Given the description of an element on the screen output the (x, y) to click on. 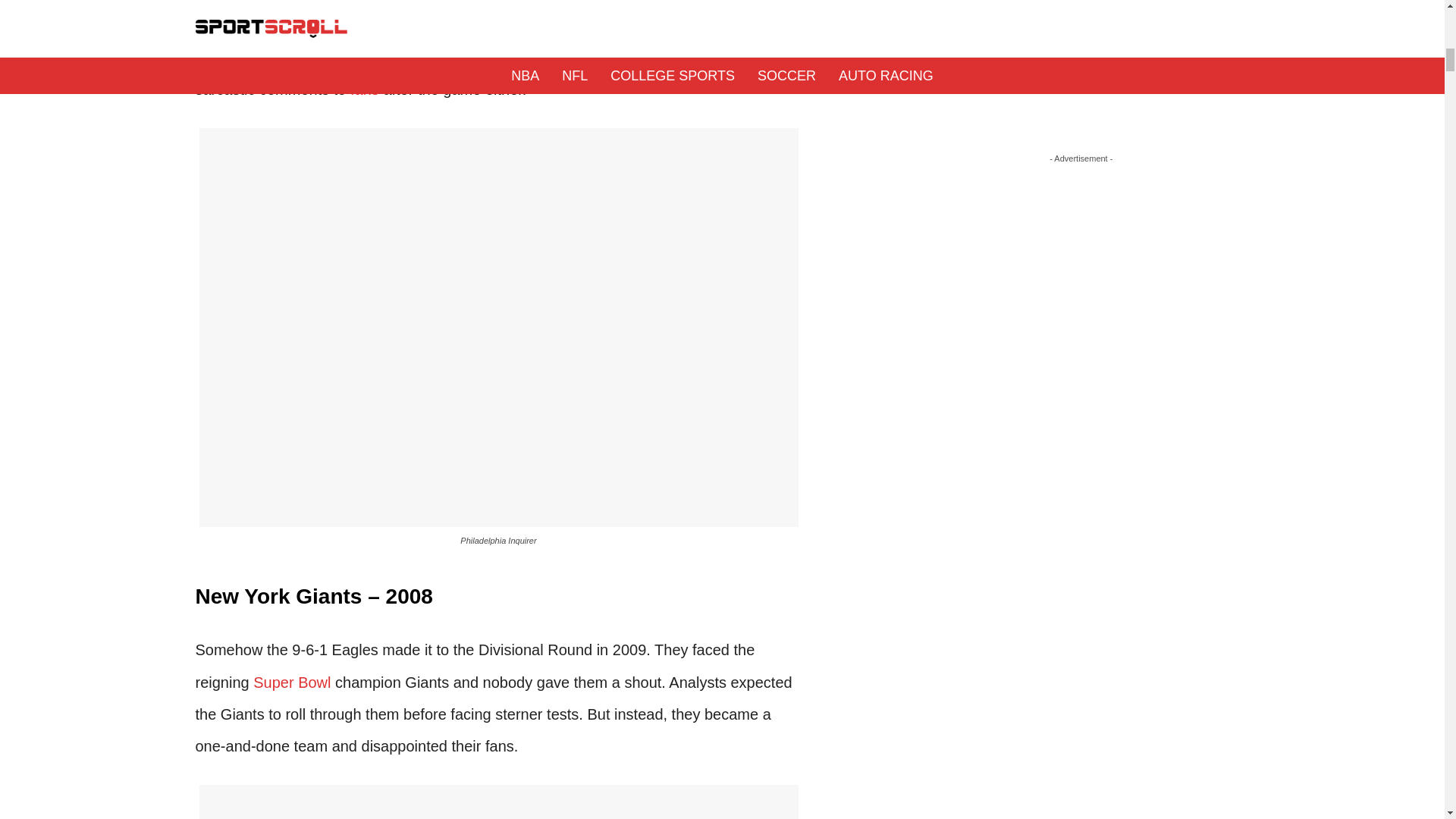
lost (526, 0)
fans (364, 89)
Super Bowl (291, 682)
